Given the description of an element on the screen output the (x, y) to click on. 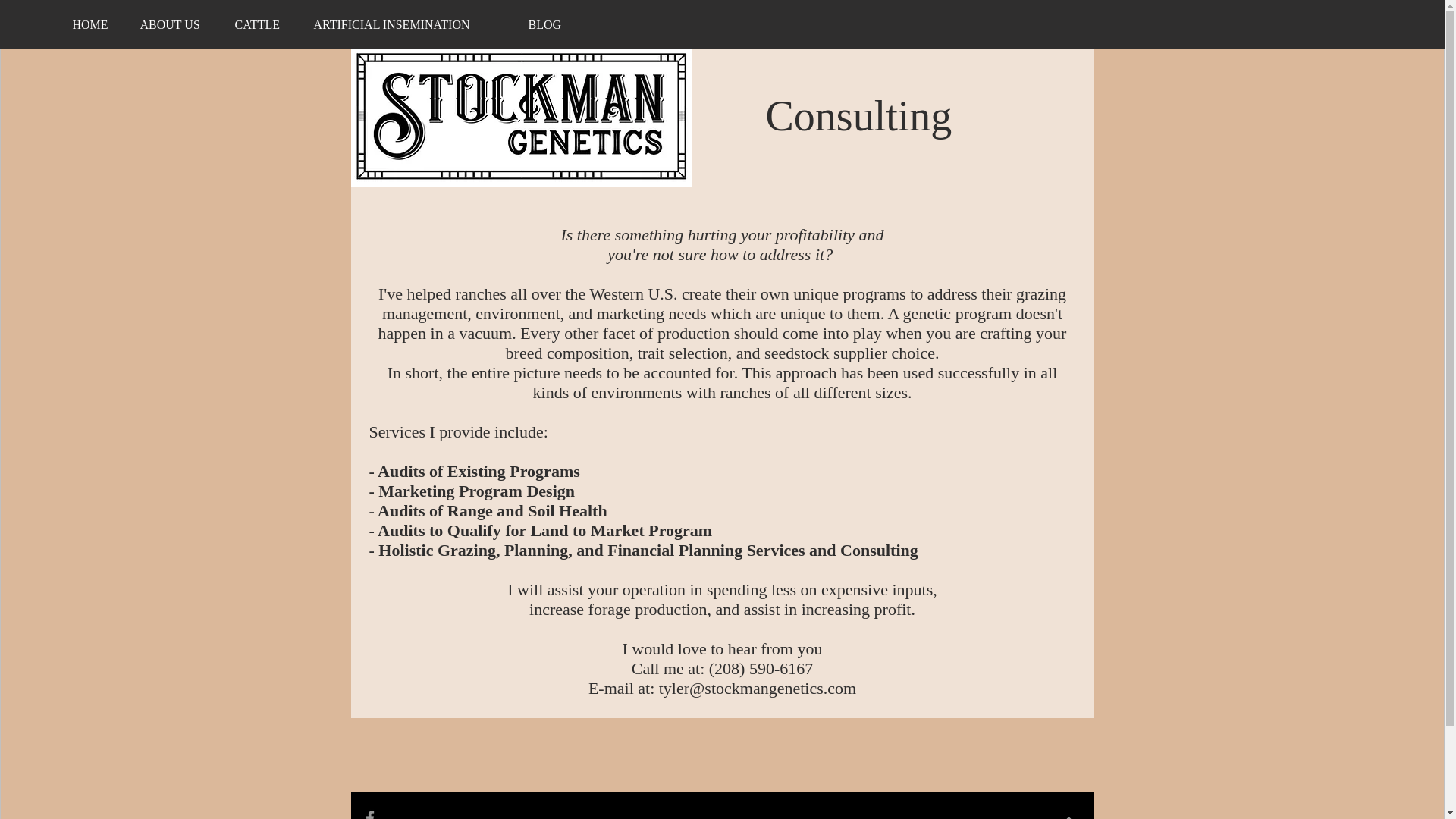
BLOG (547, 23)
ABOUT US (176, 23)
HOME (94, 23)
ARTIFICIAL INSEMINATION (408, 23)
CATTLE (261, 23)
